Given the description of an element on the screen output the (x, y) to click on. 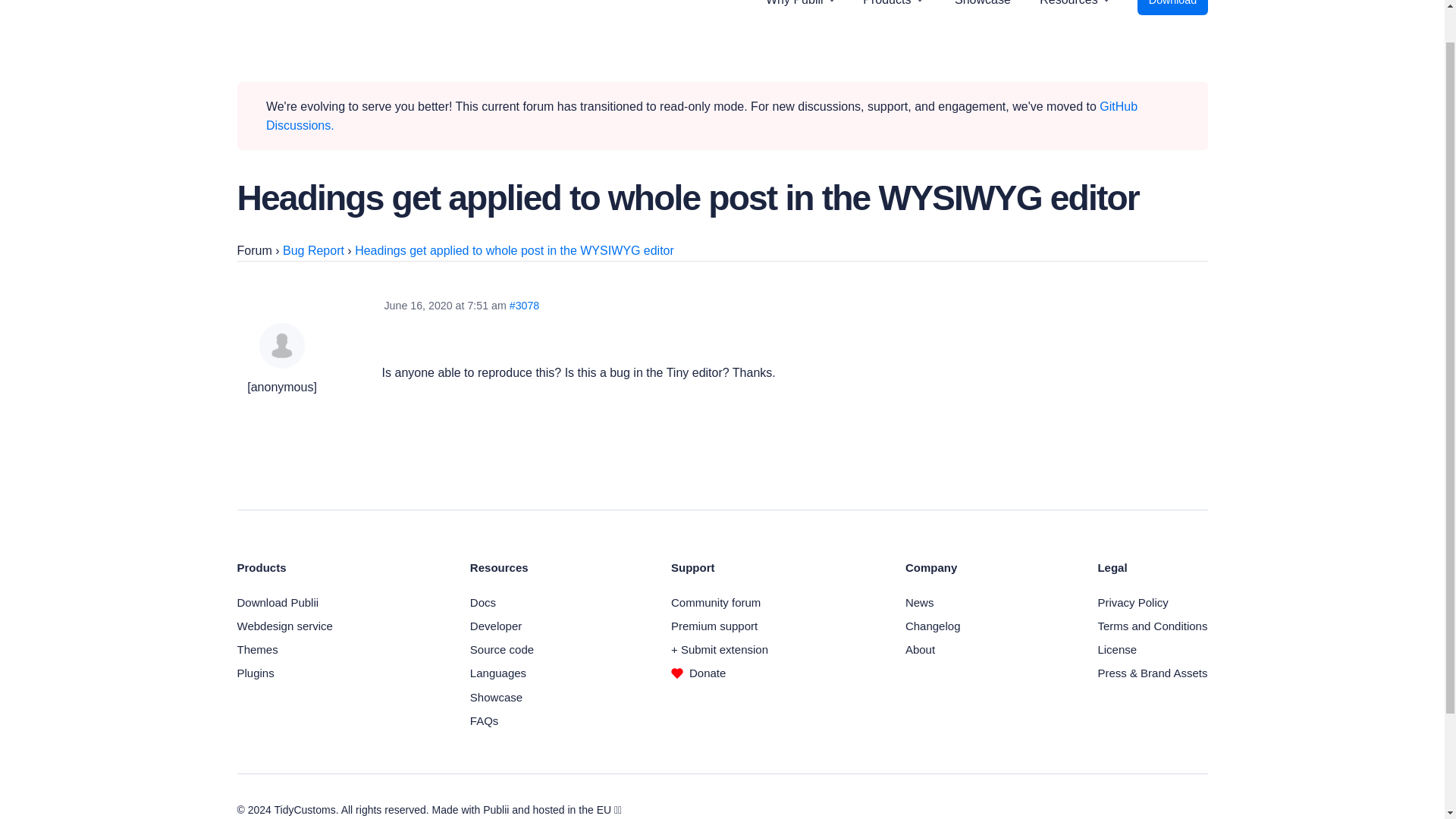
Docs (483, 602)
Community forum (715, 602)
Source code (502, 649)
Download Publii (276, 602)
Showcase (982, 19)
Themes (256, 649)
GitHub Discussions. (701, 115)
About (919, 649)
Bug Report (312, 250)
Changelog (932, 625)
Premium support (714, 625)
Download (1172, 7)
Showcase (496, 697)
Webdesign service (283, 625)
Forum (252, 250)
